Given the description of an element on the screen output the (x, y) to click on. 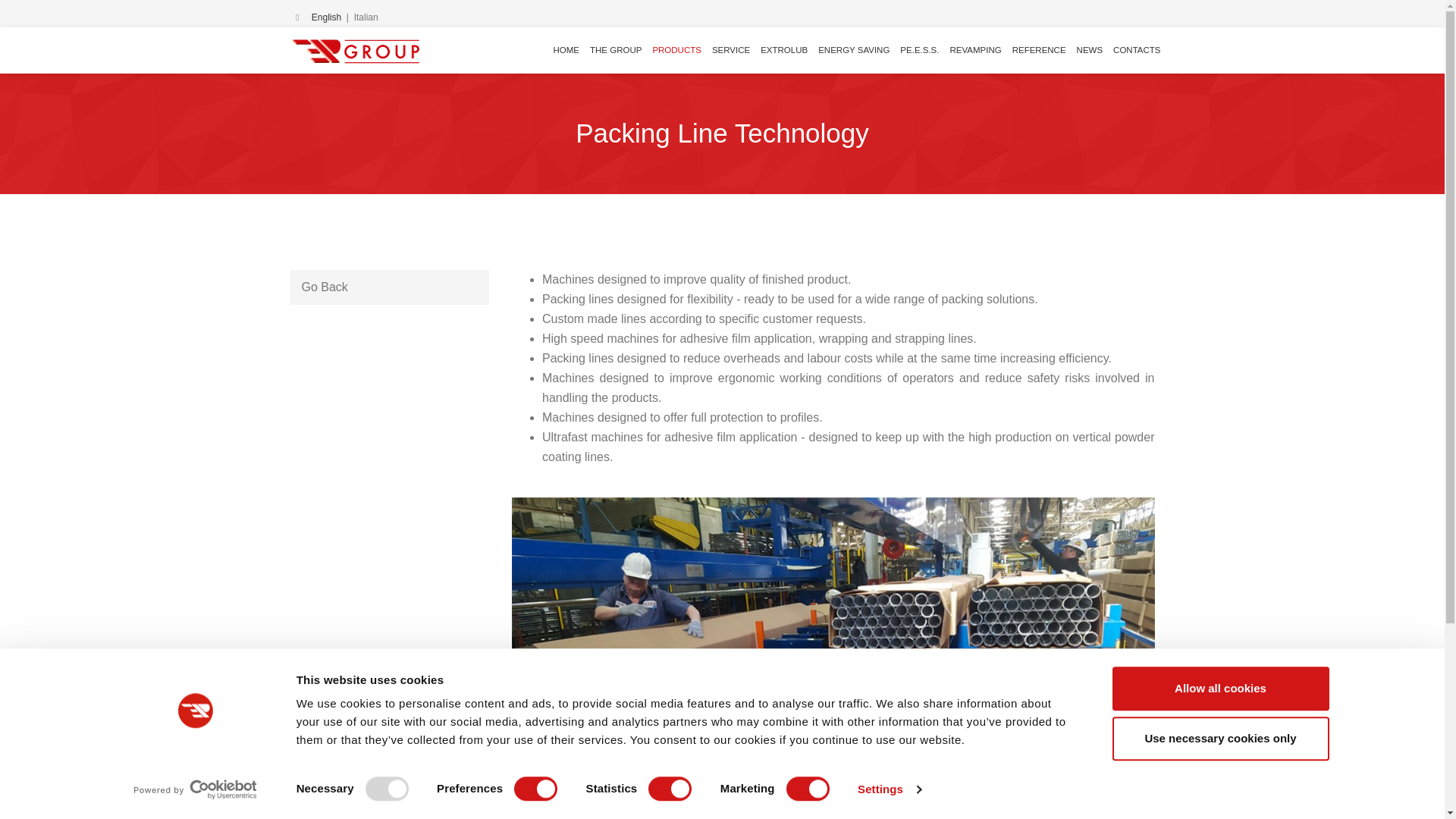
Settings (888, 789)
Italian (365, 17)
Use necessary cookies only (1219, 738)
THE GROUP (615, 49)
Allow all cookies (1219, 688)
English (325, 17)
